Given the description of an element on the screen output the (x, y) to click on. 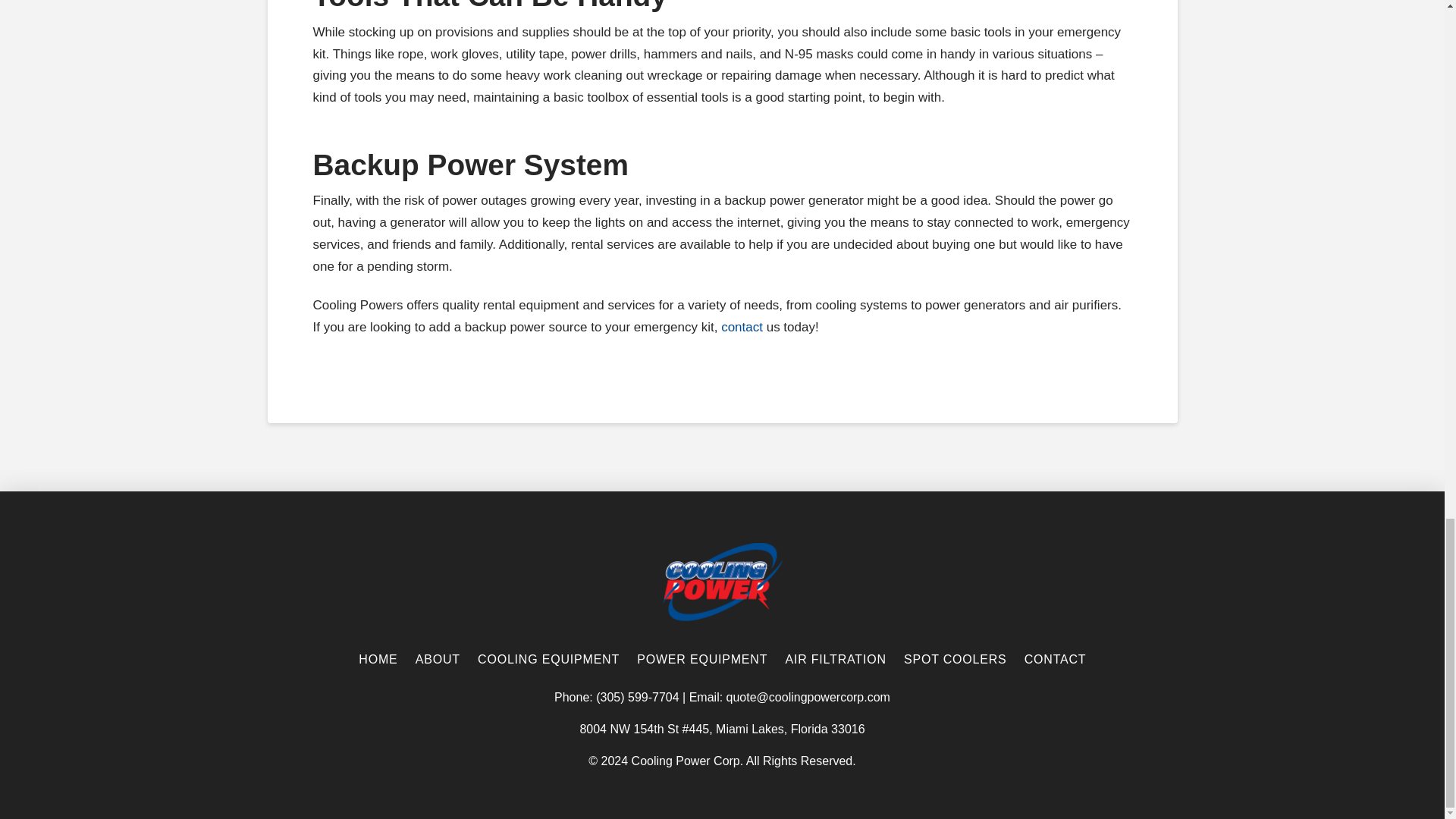
AIR FILTRATION (834, 659)
COOLING EQUIPMENT (547, 659)
HOME (377, 659)
POWER EQUIPMENT (701, 659)
contact (741, 327)
ABOUT (437, 659)
CONTACT (1054, 659)
SPOT COOLERS (954, 659)
